Given the description of an element on the screen output the (x, y) to click on. 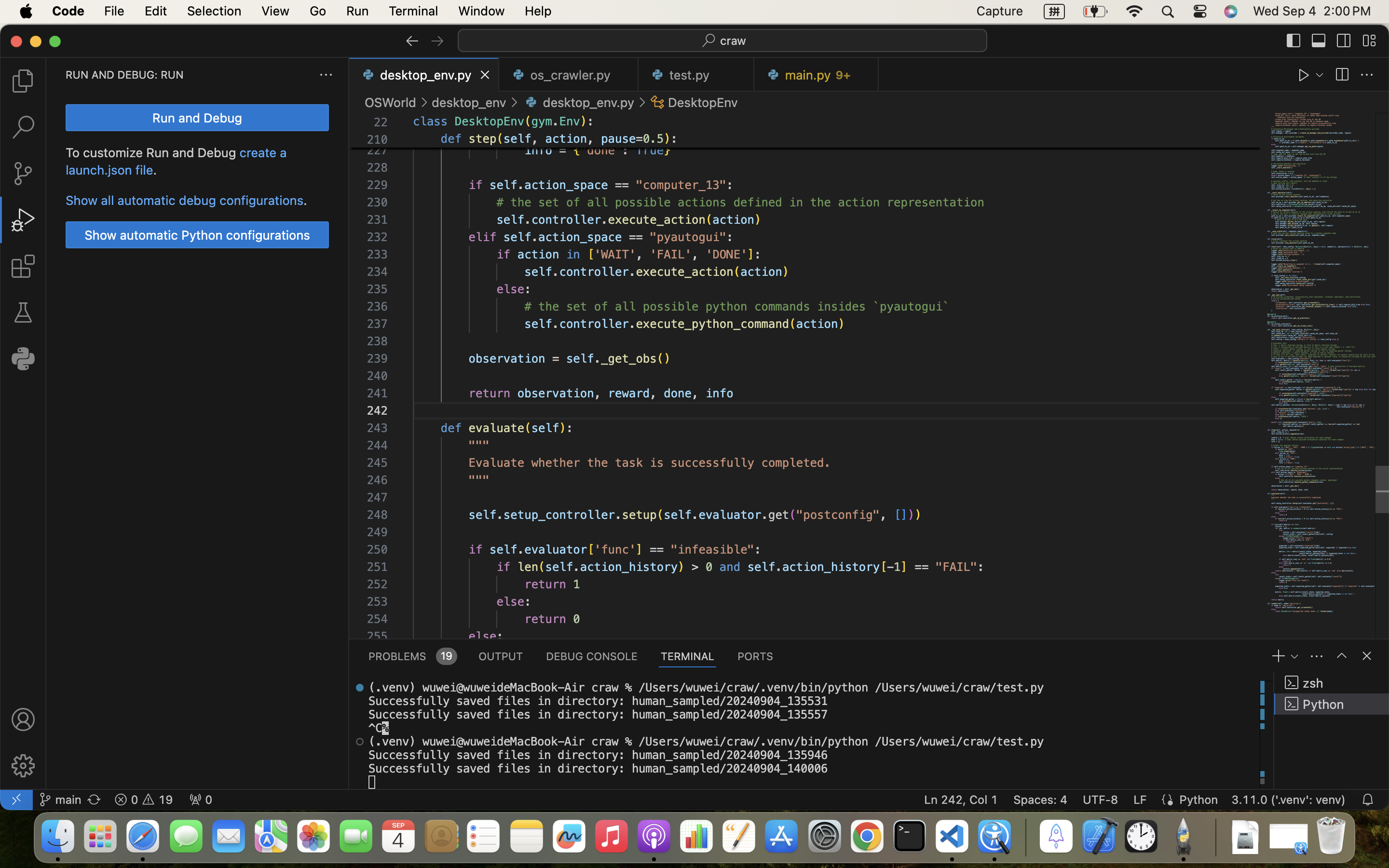
 Element type: AXStaticText (424, 101)
0 OUTPUT Element type: AXRadioButton (500, 655)
desktop_env.py  Element type: AXGroup (577, 101)
0  Element type: AXRadioButton (23, 173)
1 TERMINAL Element type: AXRadioButton (687, 655)
